Given the description of an element on the screen output the (x, y) to click on. 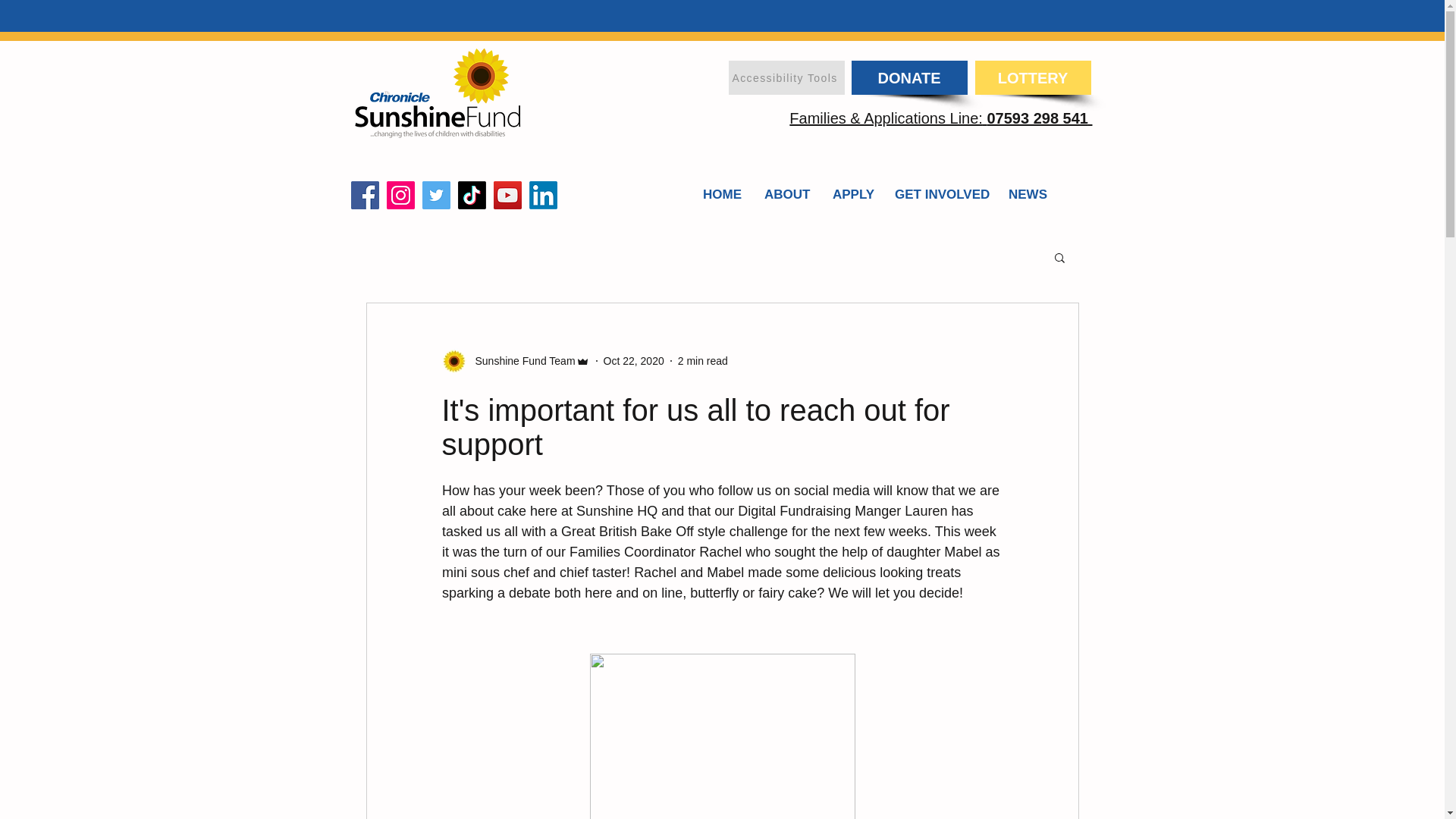
Sunshine Fund Team (515, 360)
Accessibility Tools (786, 77)
HOME (721, 194)
DONATE (908, 77)
LOTTERY (1032, 77)
ABOUT (786, 194)
2 min read (703, 360)
APPLY (852, 194)
NEWS (1027, 194)
GET INVOLVED (940, 194)
Sunshine Fund Team (520, 360)
Oct 22, 2020 (633, 360)
